Given the description of an element on the screen output the (x, y) to click on. 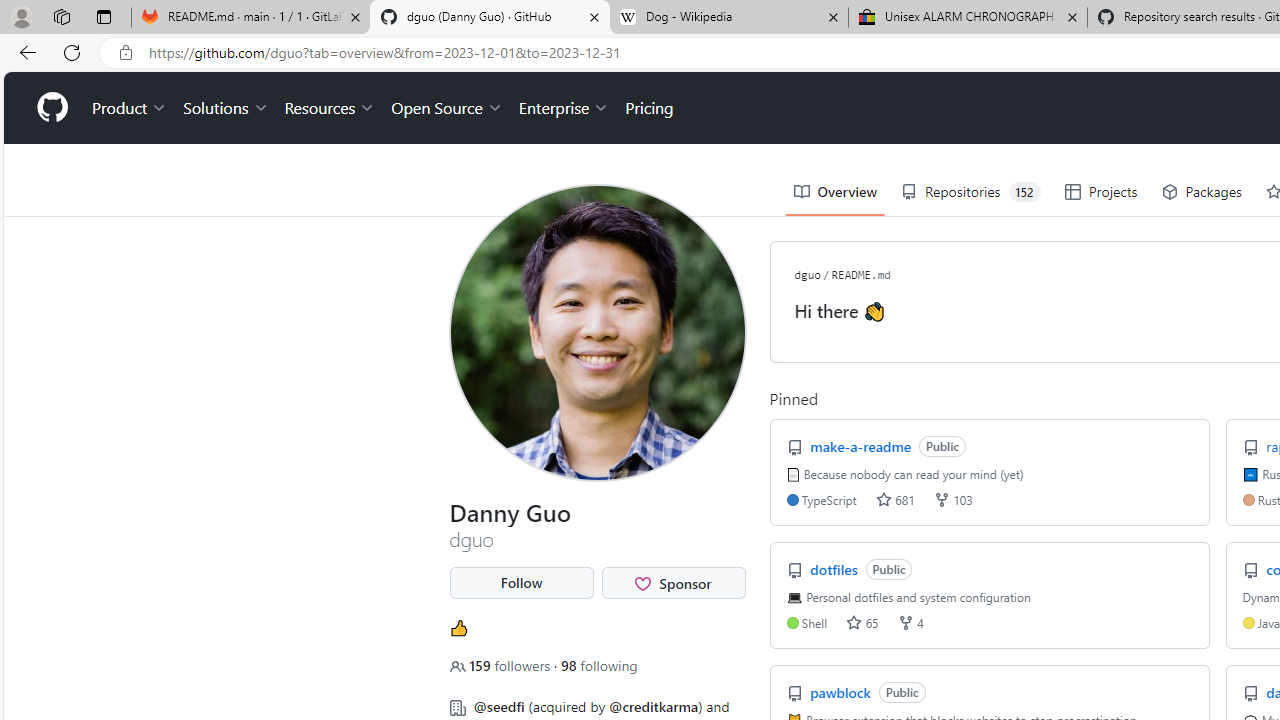
Open Source (446, 107)
159 followers  (502, 665)
forks 4 (910, 622)
Enterprise (563, 107)
